Given the description of an element on the screen output the (x, y) to click on. 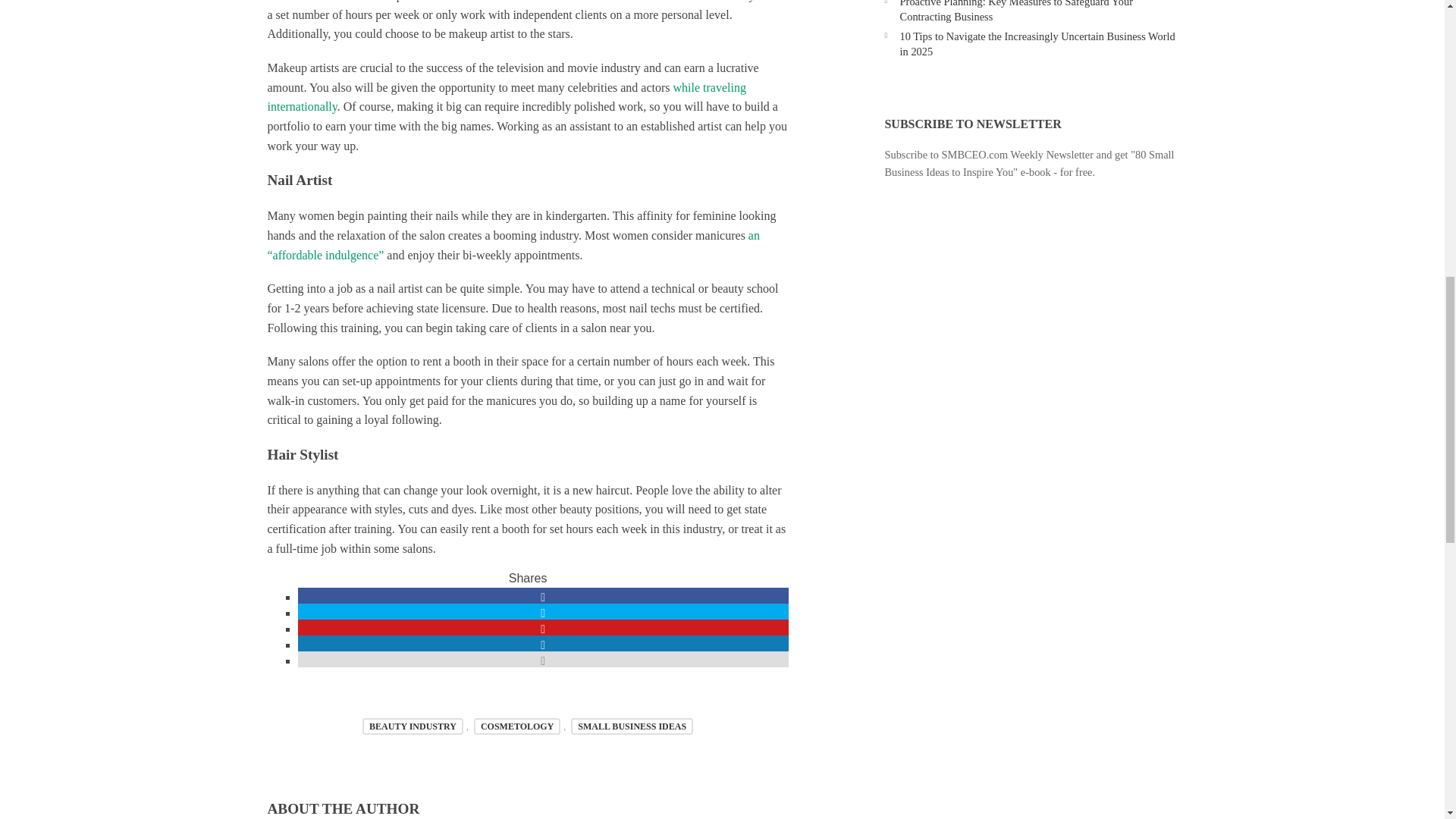
COSMETOLOGY (517, 726)
SMALL BUSINESS IDEAS (631, 726)
BEAUTY INDUSTRY (412, 726)
while traveling internationally (505, 97)
